Given the description of an element on the screen output the (x, y) to click on. 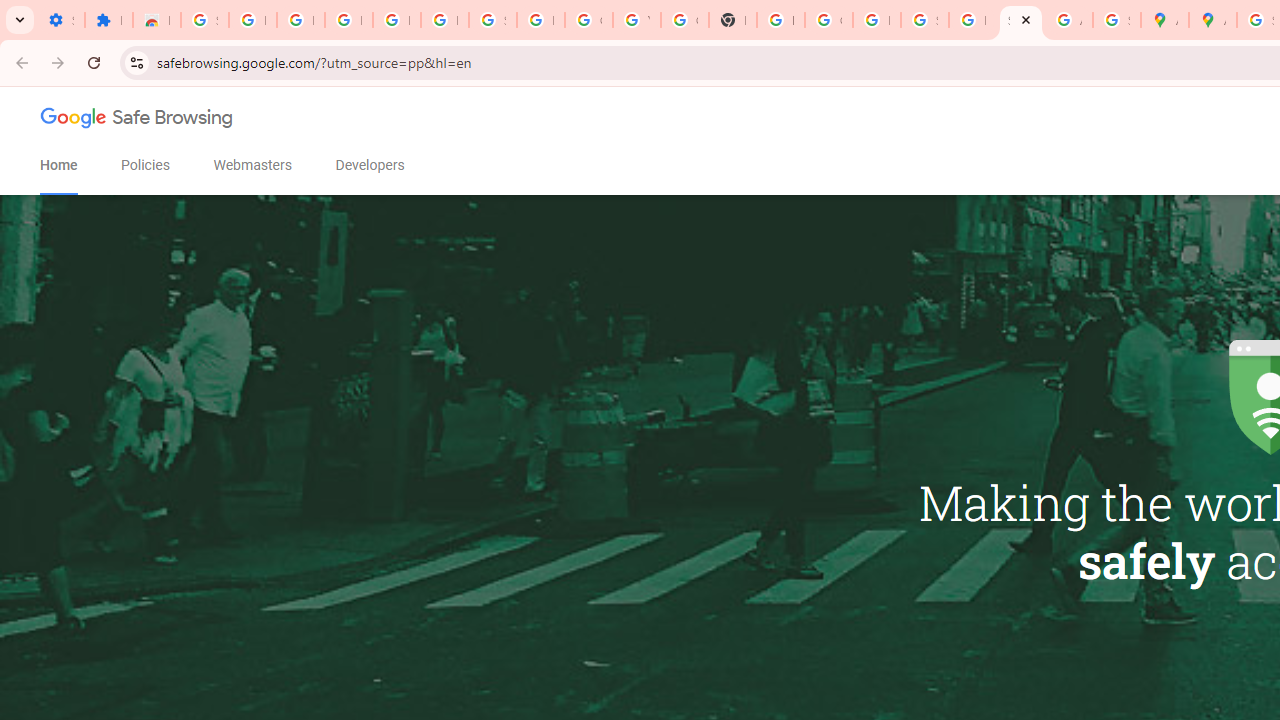
Google Safe Browsing (137, 121)
Policies (145, 165)
New Tab (732, 20)
Webmasters (251, 165)
Settings - On startup (60, 20)
Google Account (588, 20)
